Given the description of an element on the screen output the (x, y) to click on. 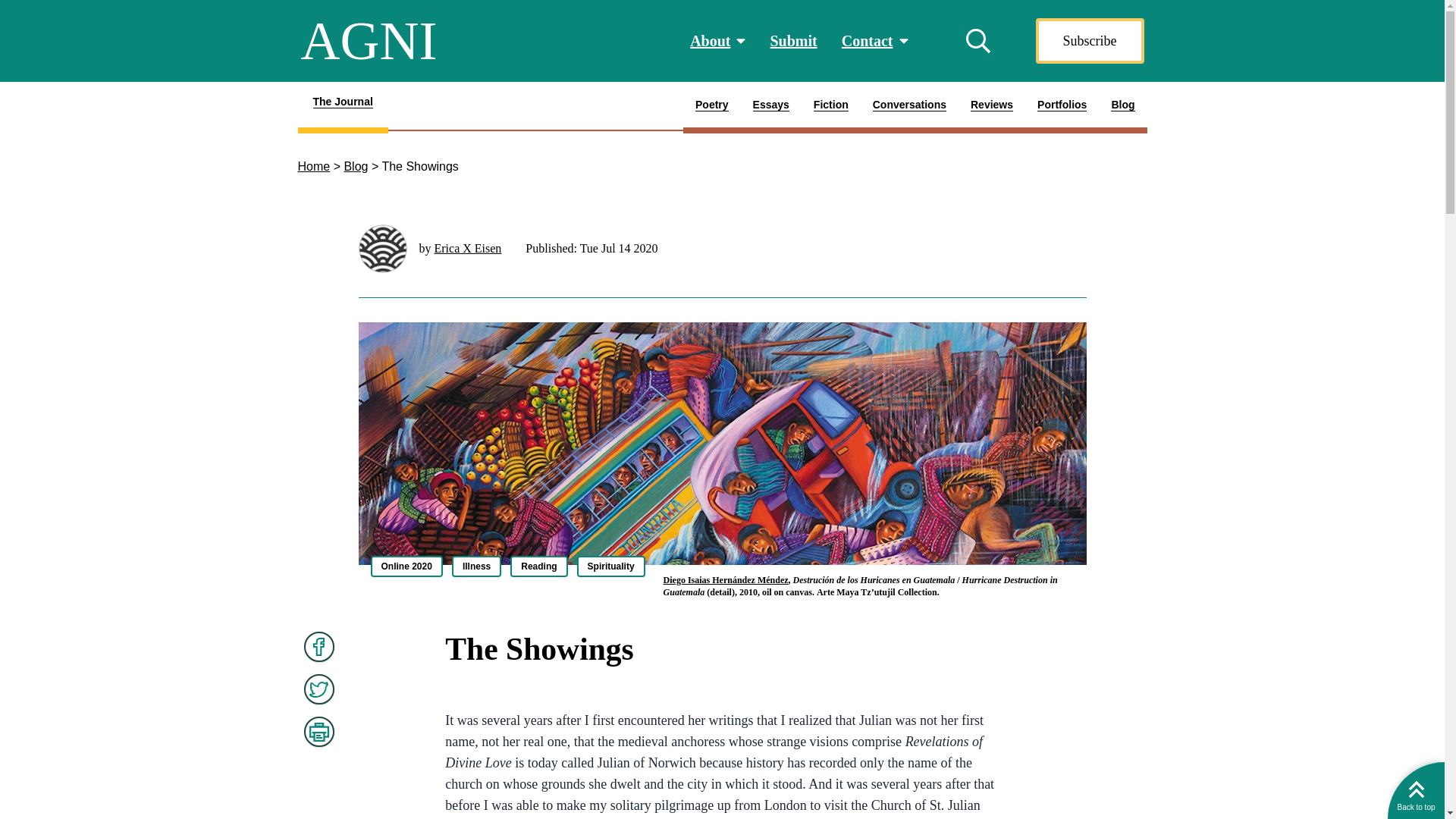
Blog (355, 165)
Portfolios (1062, 107)
Reviews (991, 107)
AGNI (367, 40)
The Journal (342, 107)
Blog (1123, 107)
Poetry (711, 107)
Erica X Eisen (466, 247)
Online 2020 (405, 566)
Fiction (831, 107)
